Given the description of an element on the screen output the (x, y) to click on. 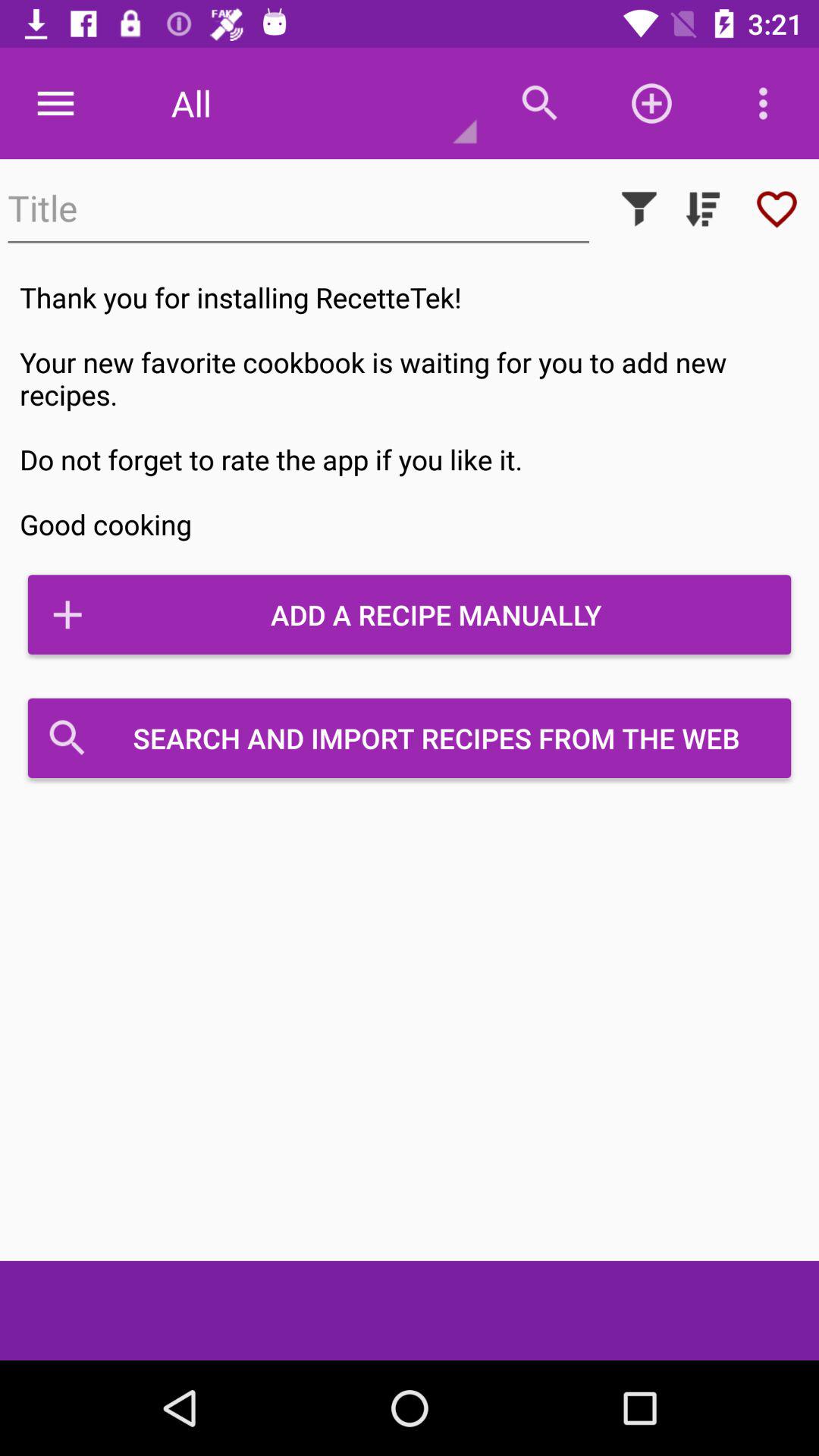
dropdown list (702, 208)
